Given the description of an element on the screen output the (x, y) to click on. 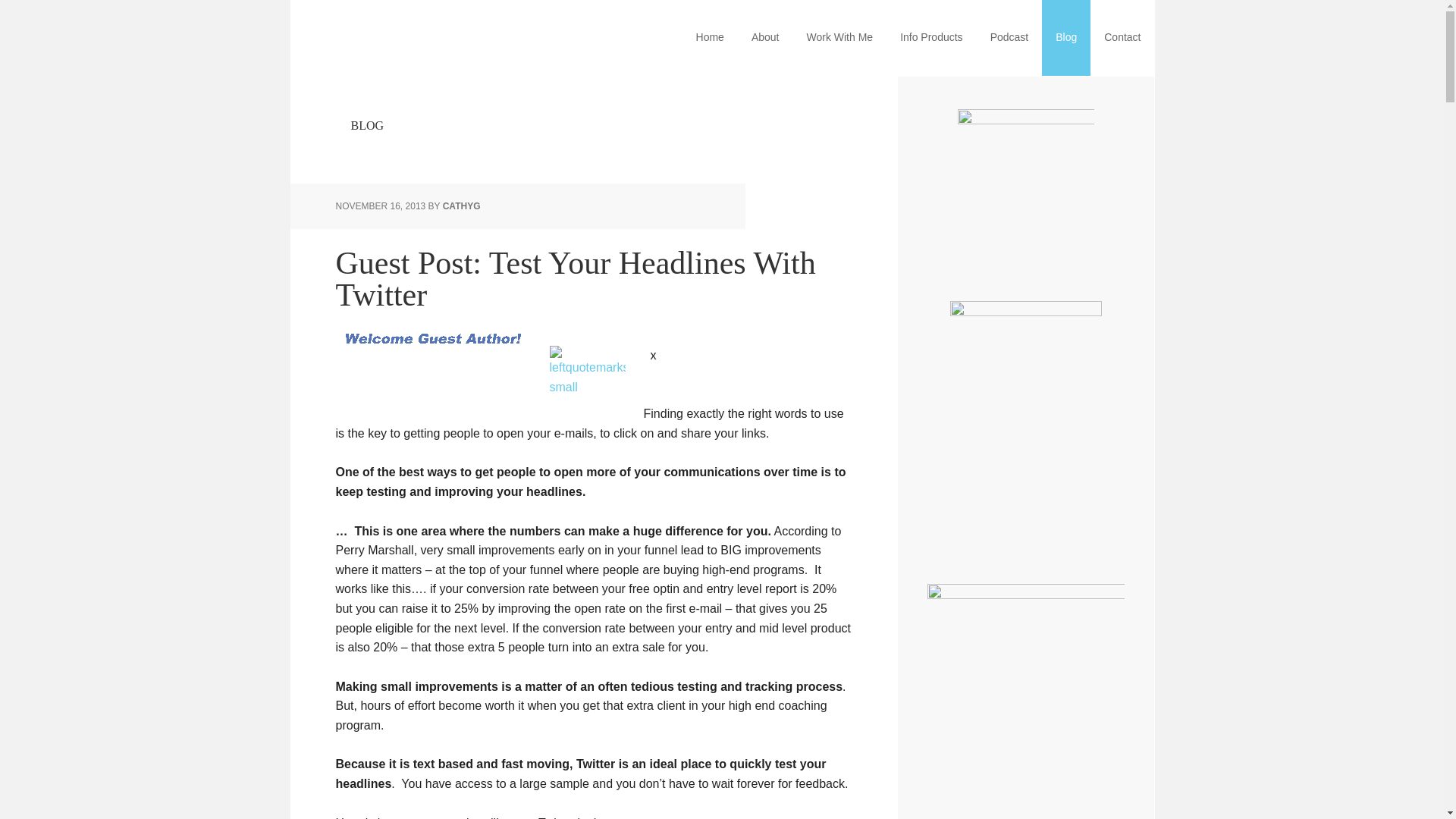
Cathy Goodwin, Ph.D. (402, 38)
Work With Me (839, 38)
Info Products (931, 38)
Guest Post: Test Your Headlines With Twitter (574, 278)
CATHYG (461, 205)
